Given the description of an element on the screen output the (x, y) to click on. 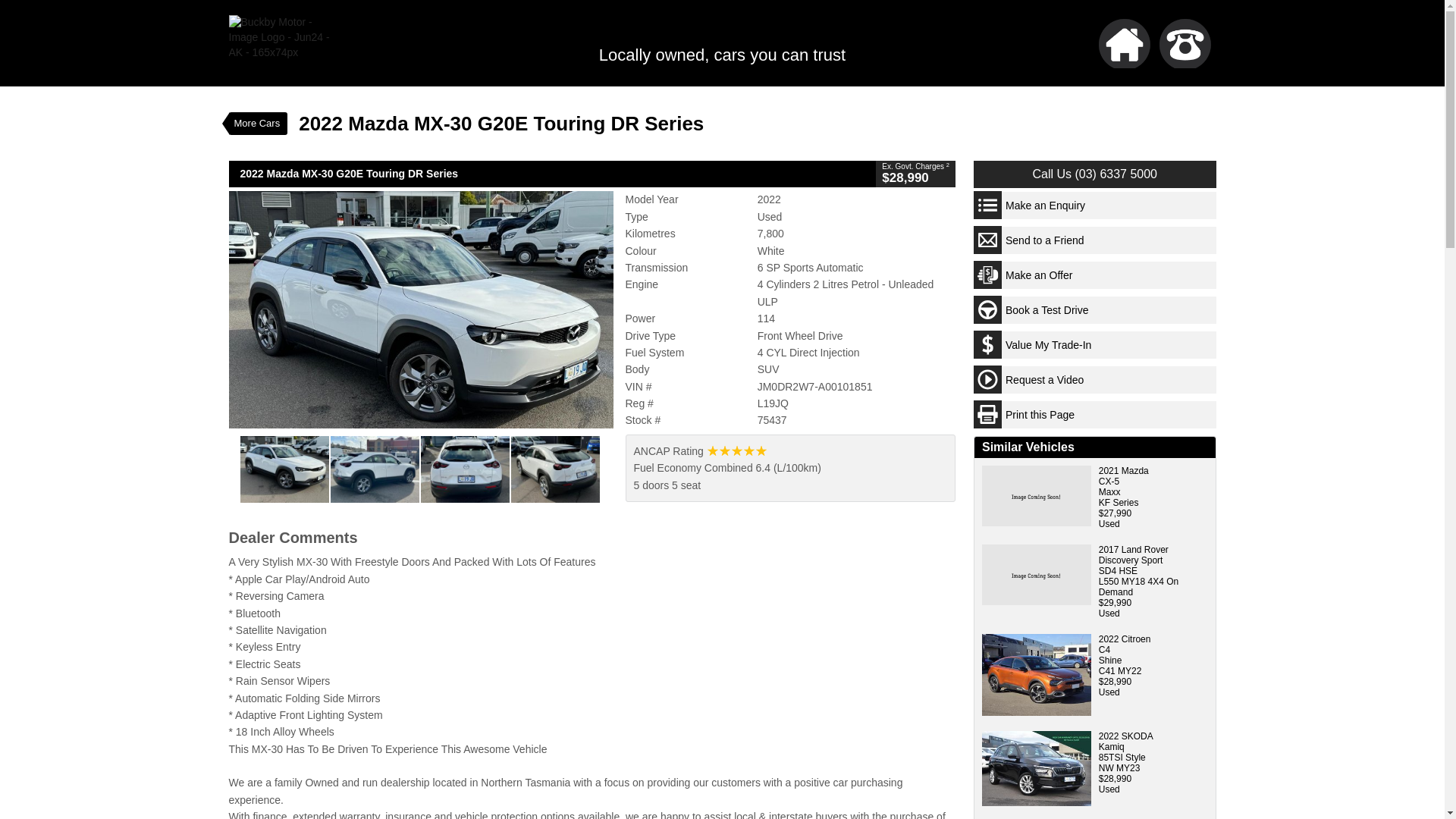
Submit Enquiry (1085, 811)
More Cars (258, 123)
Submit Enquiry (1085, 673)
